Given the description of an element on the screen output the (x, y) to click on. 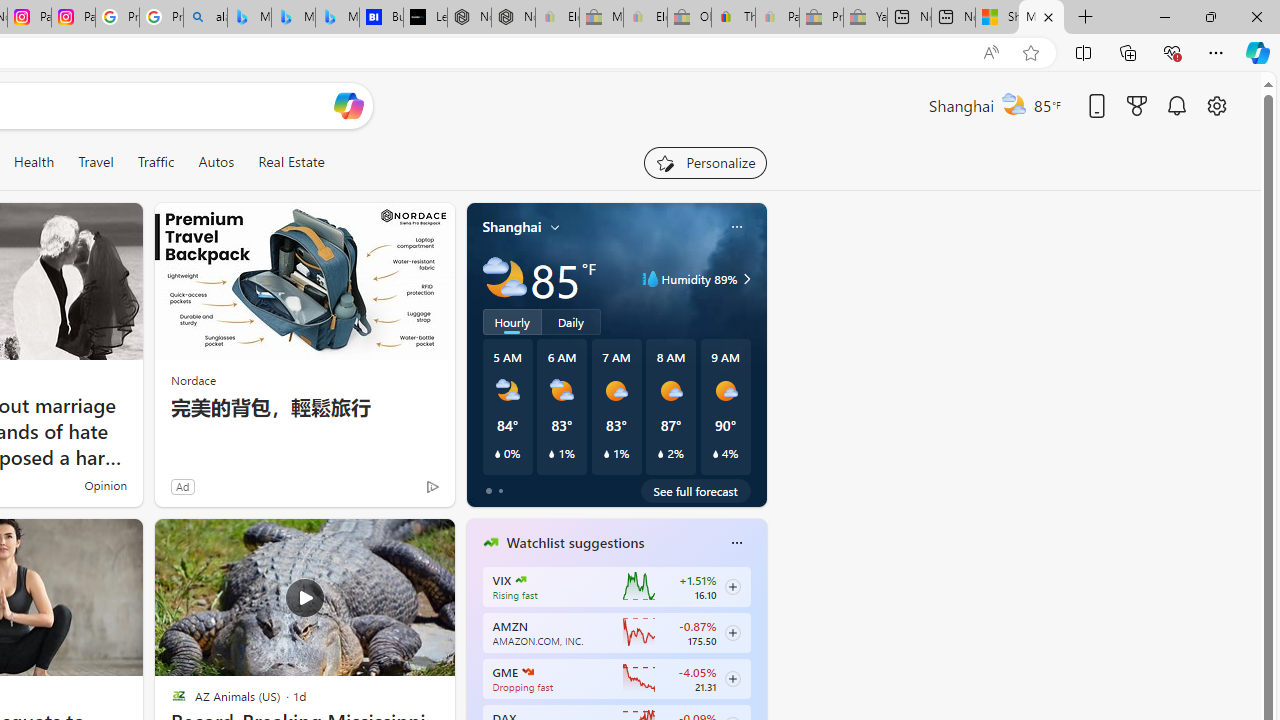
Watchlist suggestions (575, 543)
Partly cloudy (504, 278)
Shanghai (511, 227)
next (756, 670)
